Given the description of an element on the screen output the (x, y) to click on. 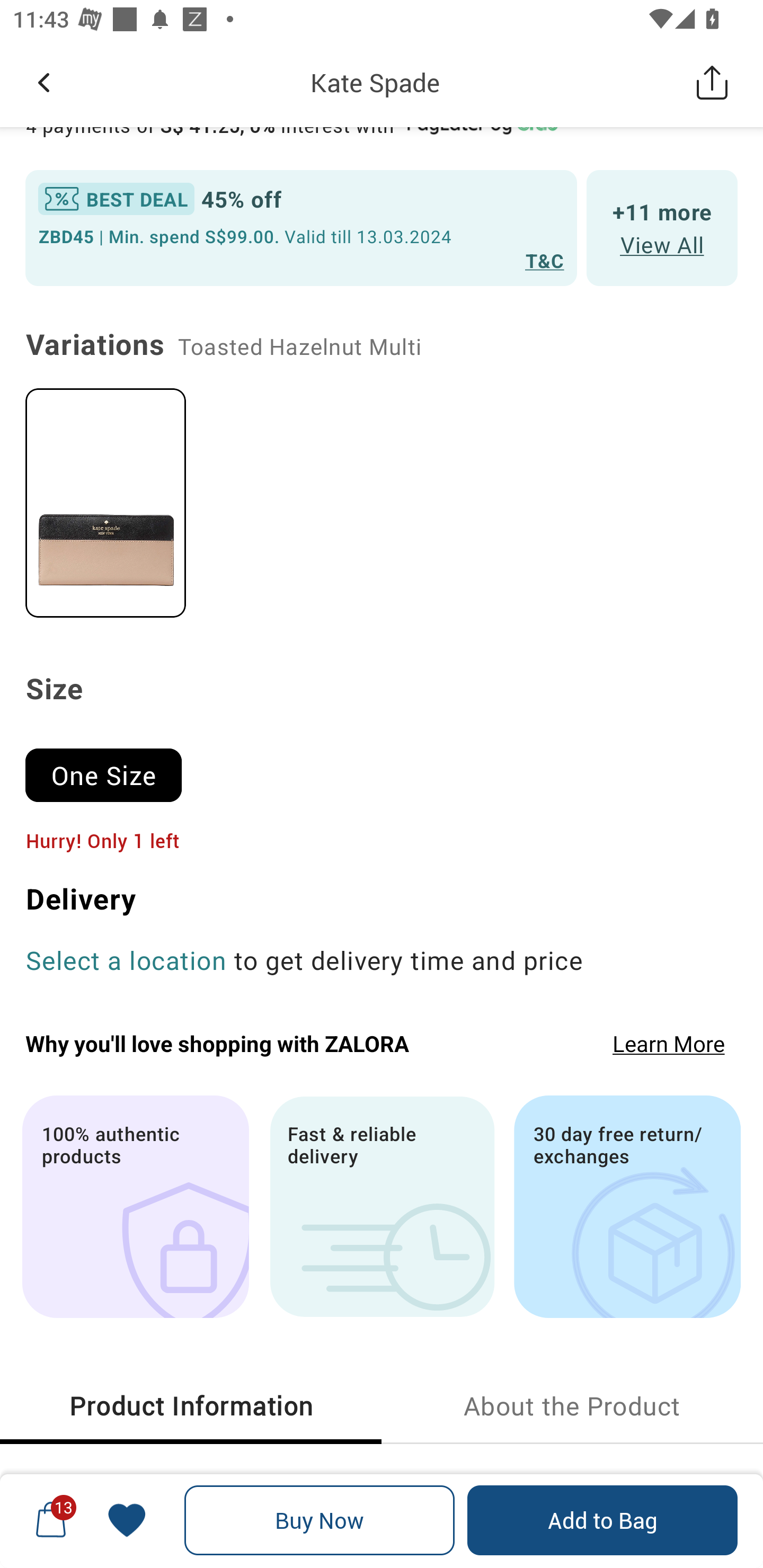
Kate Spade (375, 82)
Share this Product (711, 82)
+11 more
View All (661, 227)
T&C (544, 259)
One Size (111, 767)
Learn More (668, 1043)
100% authentic products (135, 1206)
Fast & reliable delivery (381, 1206)
30 day free return/exchanges (627, 1206)
About the Product (572, 1405)
Buy Now (319, 1519)
Add to Bag (601, 1519)
13 (50, 1520)
